Given the description of an element on the screen output the (x, y) to click on. 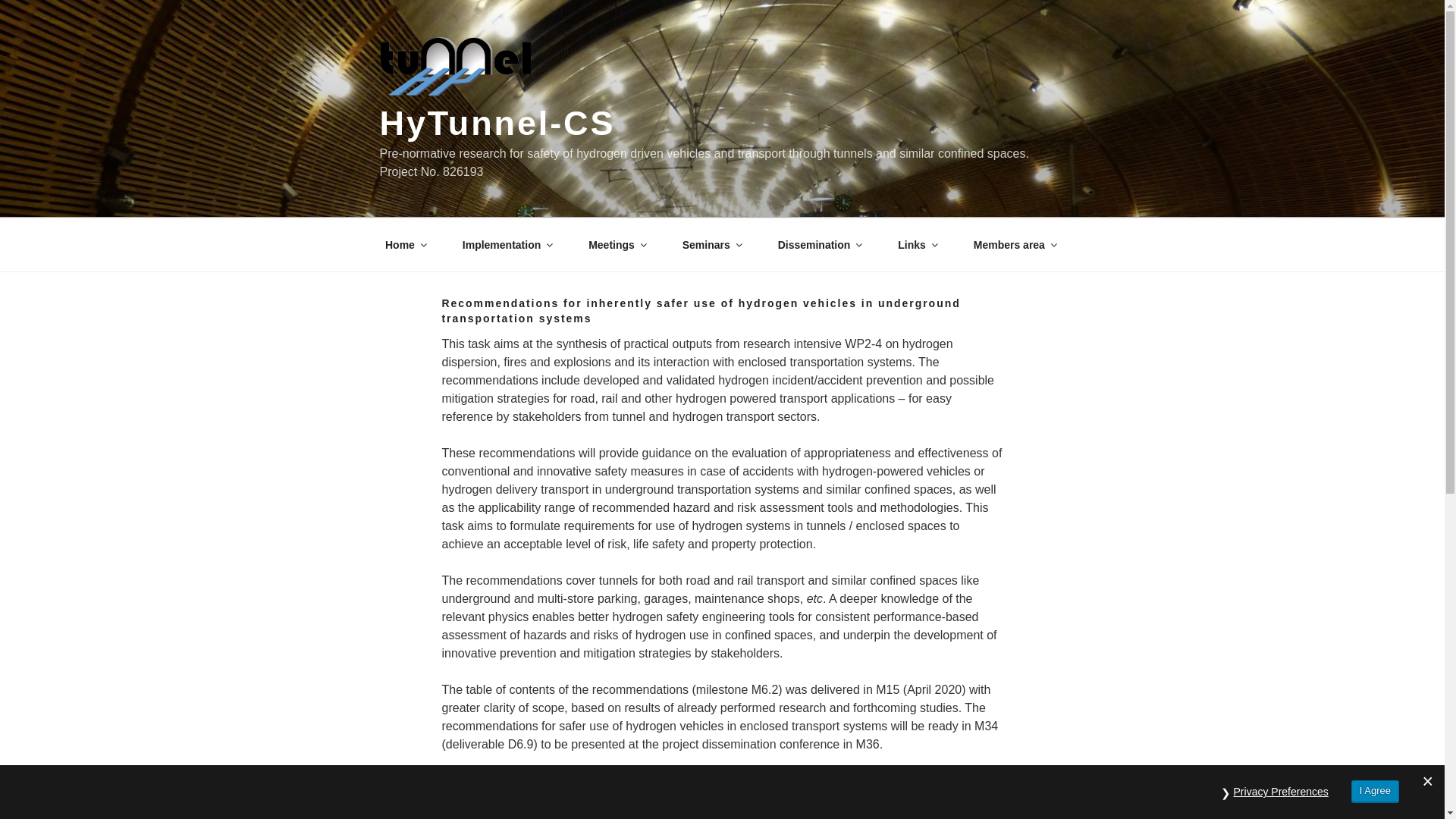
Meetings (617, 244)
Seminars (711, 244)
HyTunnel-CS (496, 123)
Implementation (506, 244)
Home (404, 244)
